Given the description of an element on the screen output the (x, y) to click on. 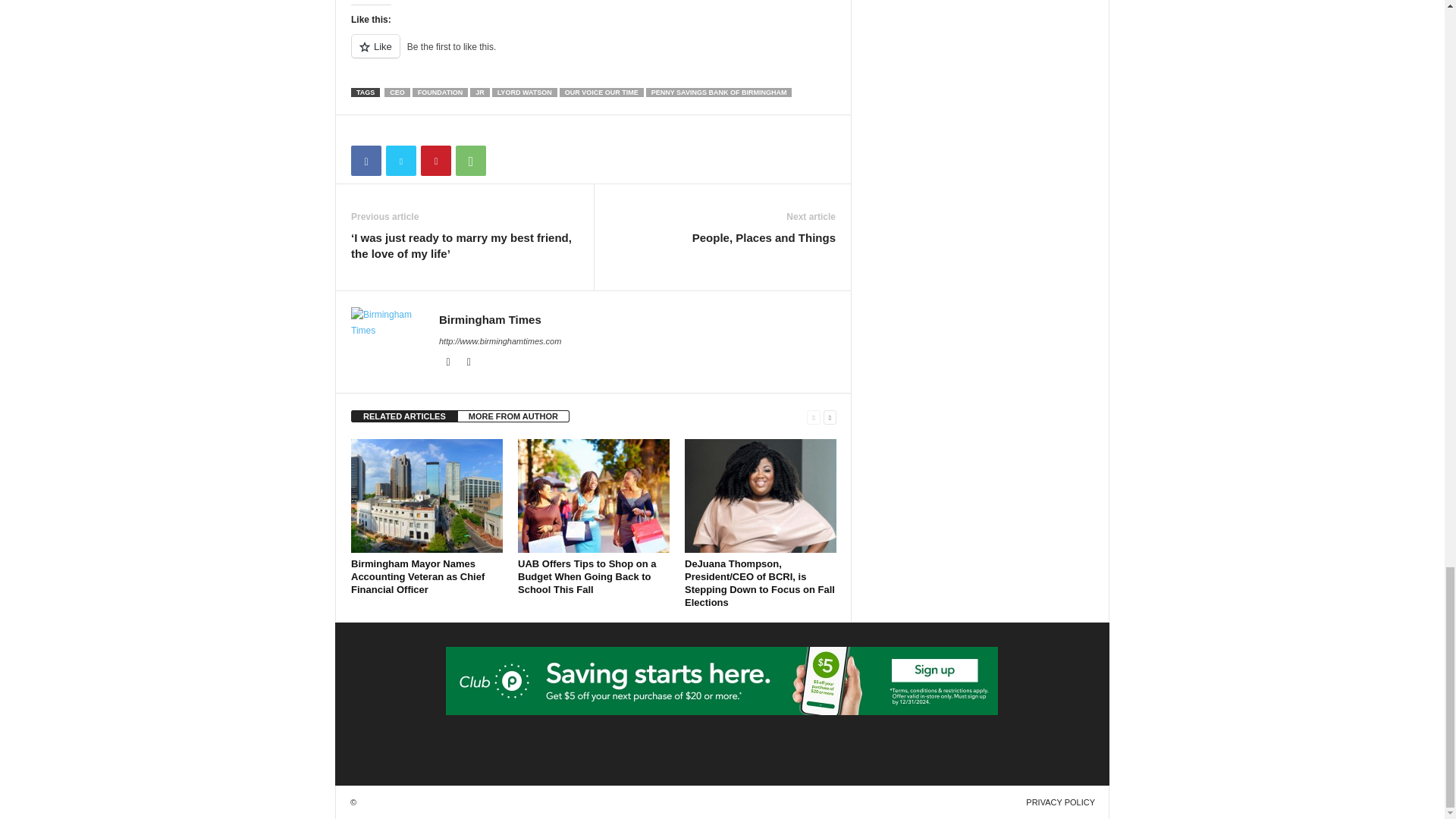
Like or Reblog (592, 55)
